Given the description of an element on the screen output the (x, y) to click on. 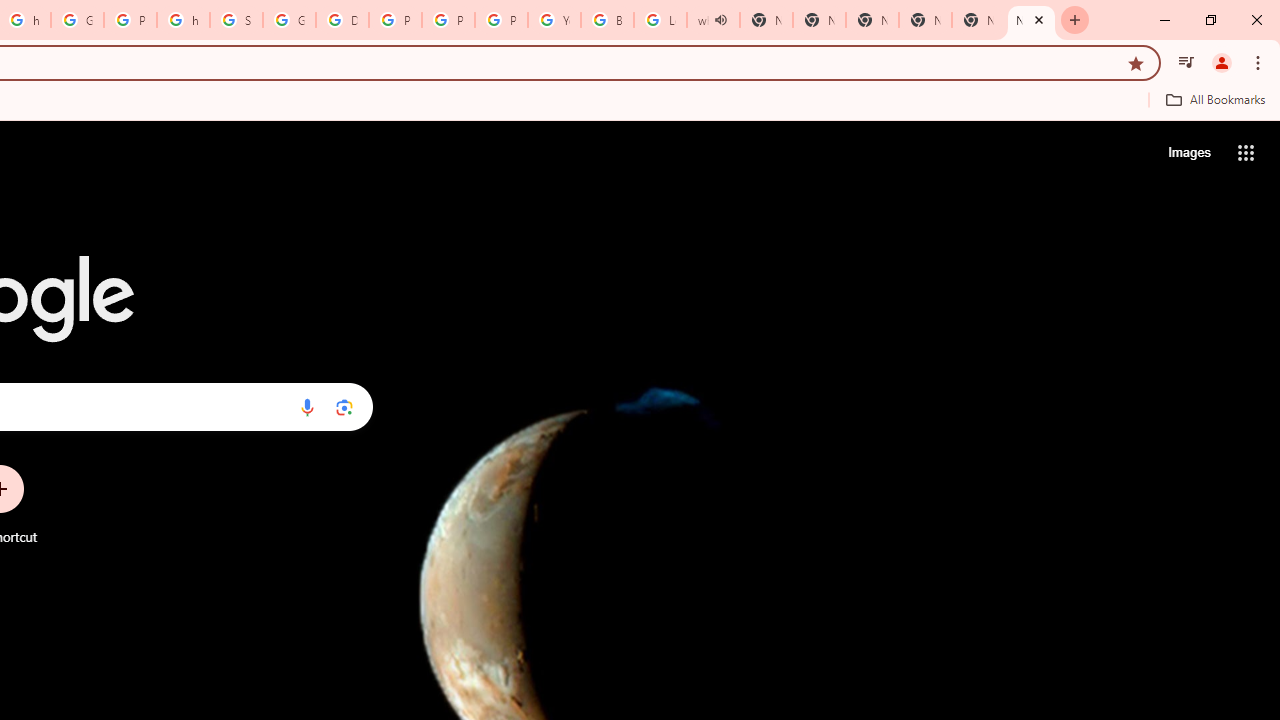
All Bookmarks (1215, 99)
Privacy Help Center - Policies Help (395, 20)
New Tab (925, 20)
Privacy Help Center - Policies Help (448, 20)
YouTube (554, 20)
